Given the description of an element on the screen output the (x, y) to click on. 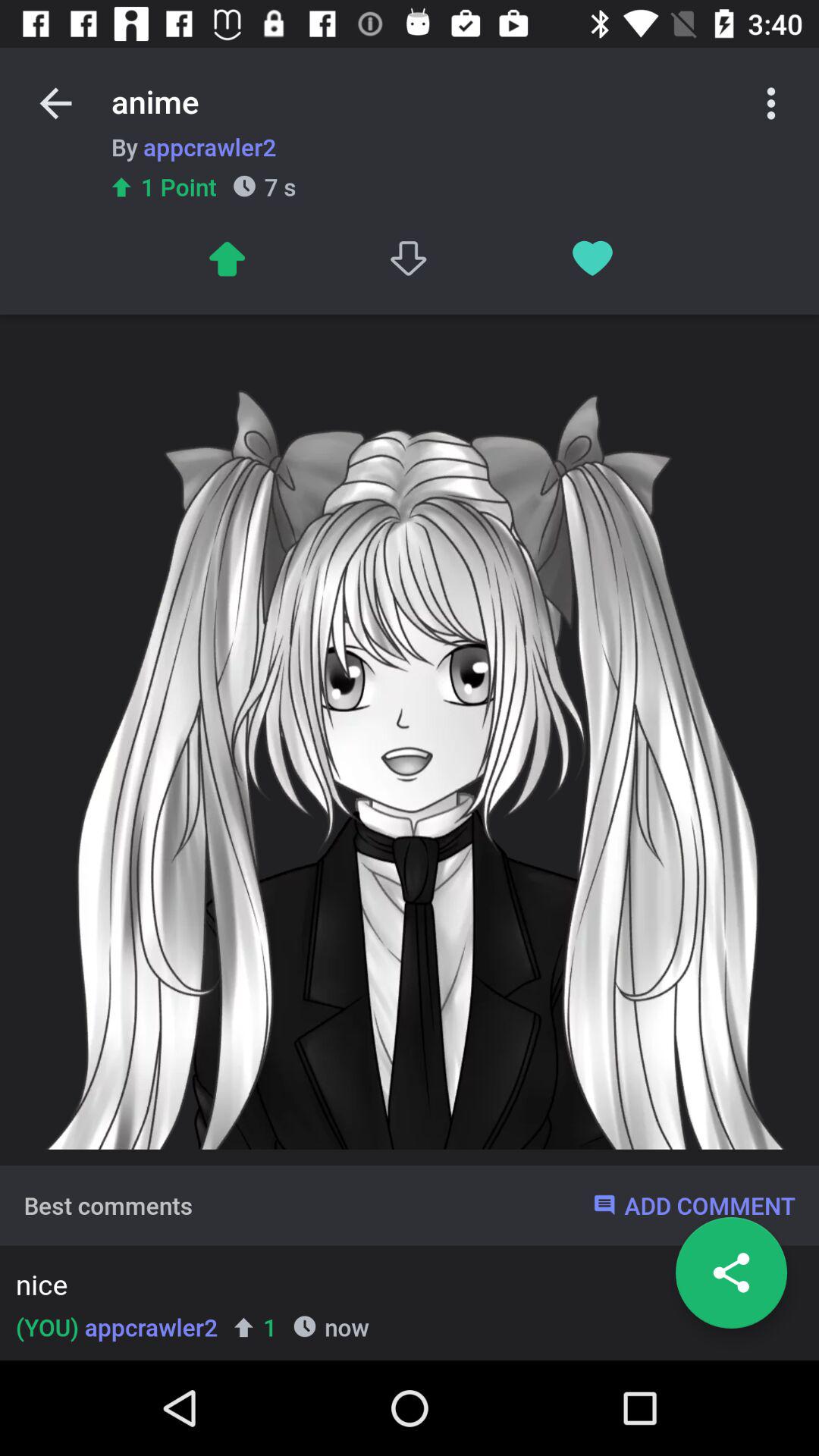
press best comments icon (108, 1205)
